Given the description of an element on the screen output the (x, y) to click on. 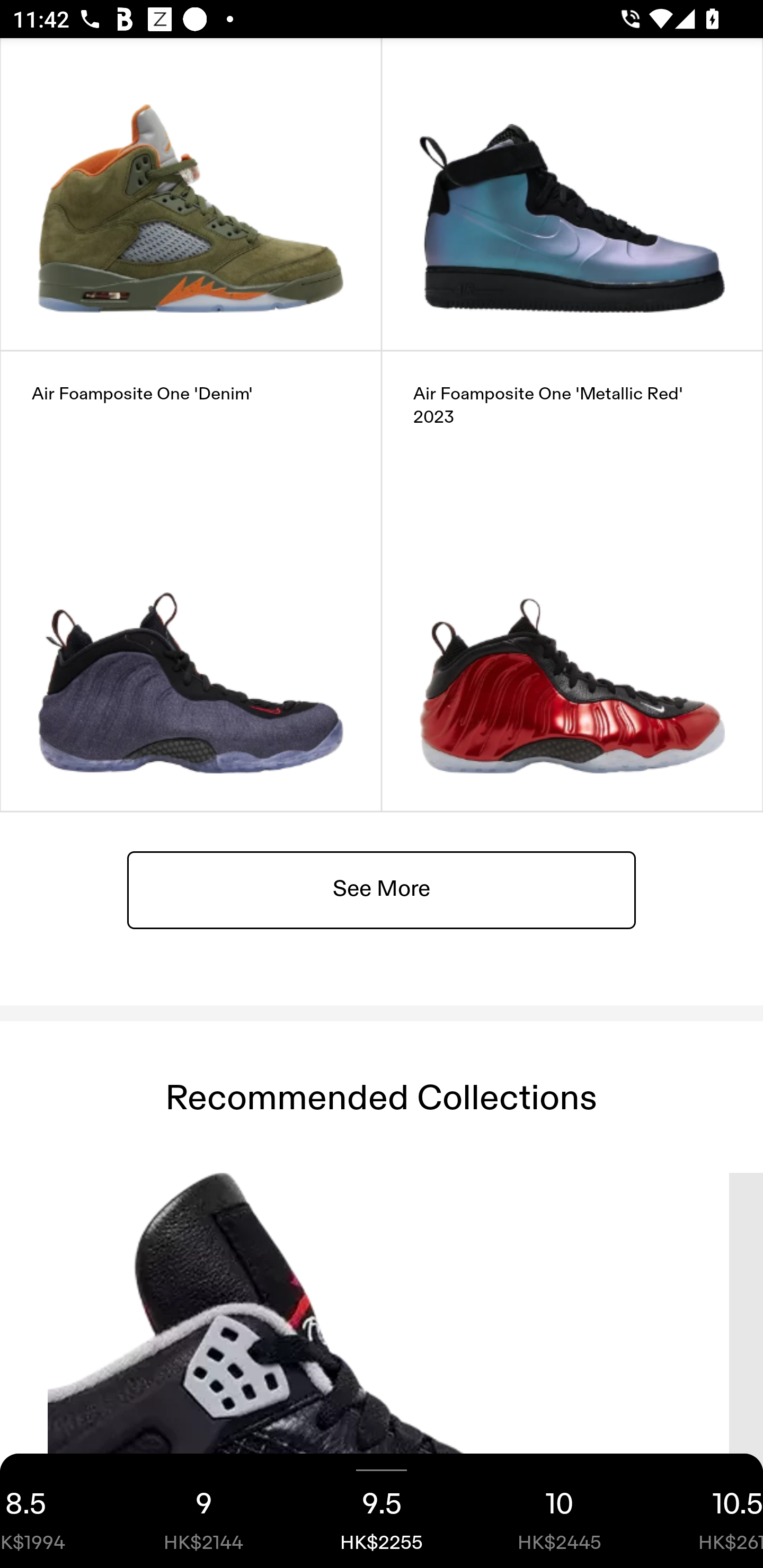
Air Foamposite One 'Denim' (190, 581)
Air Foamposite One 'Metallic Red' 2023 (572, 581)
See More (381, 889)
8.5 HK$1994 (57, 1510)
9 HK$2144 (203, 1510)
9.5 HK$2255 (381, 1510)
10 HK$2445 (559, 1510)
10.5 HK$2619 (705, 1510)
